Given the description of an element on the screen output the (x, y) to click on. 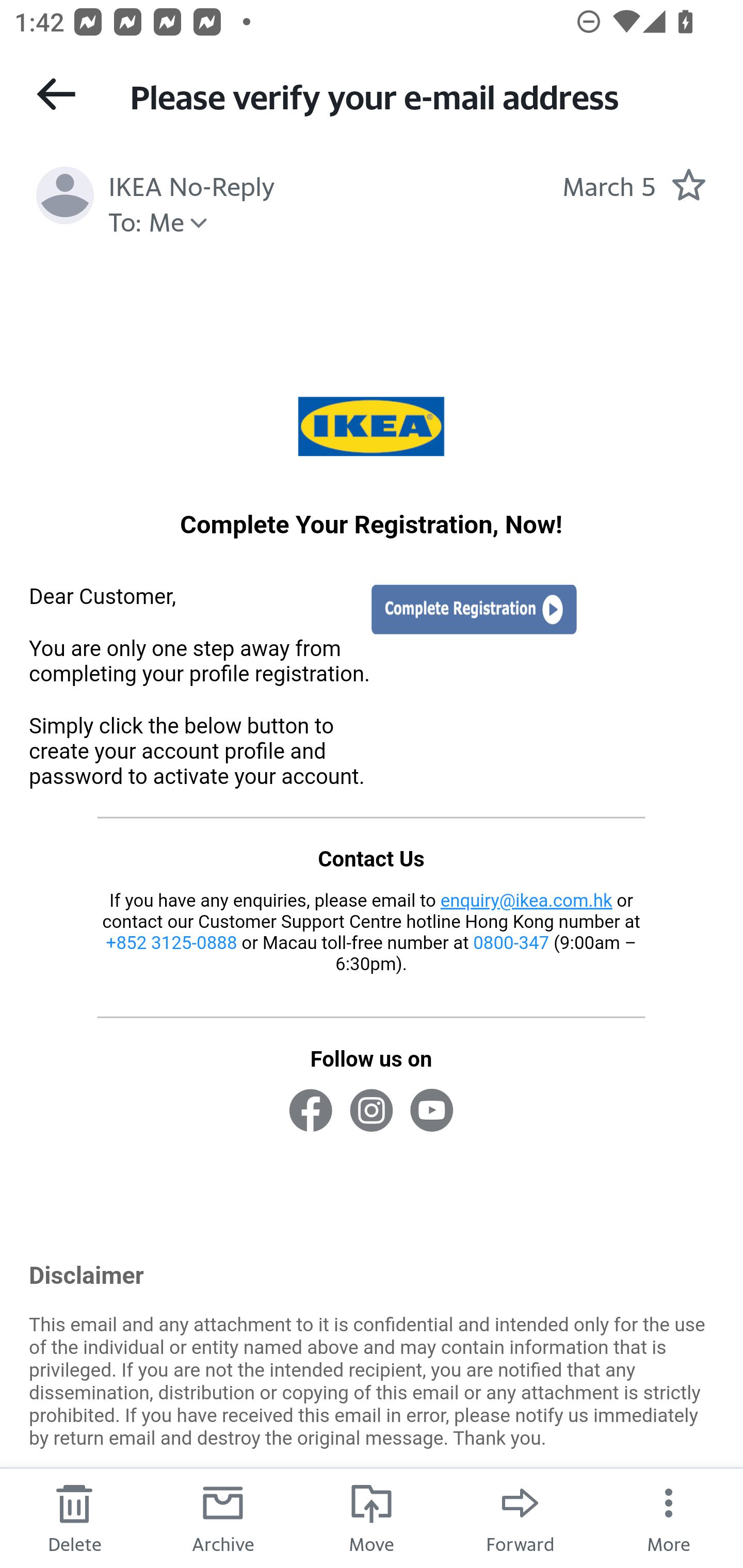
Back (55, 93)
Please verify your e-mail address (418, 94)
Profile (64, 195)
IKEA No-Reply Sender IKEA No-Reply (191, 184)
Mark as starred. (688, 184)
www.ikea.com (371, 426)
enquiry@ikea.com.hk (525, 902)
IKEAhongkong (310, 1112)
ikeahongkong (370, 1112)
UCcQ5WlinXufbKizIJHlI4LQ (431, 1112)
Delete (74, 1517)
Archive (222, 1517)
Move (371, 1517)
Forward (519, 1517)
More (668, 1517)
